Given the description of an element on the screen output the (x, y) to click on. 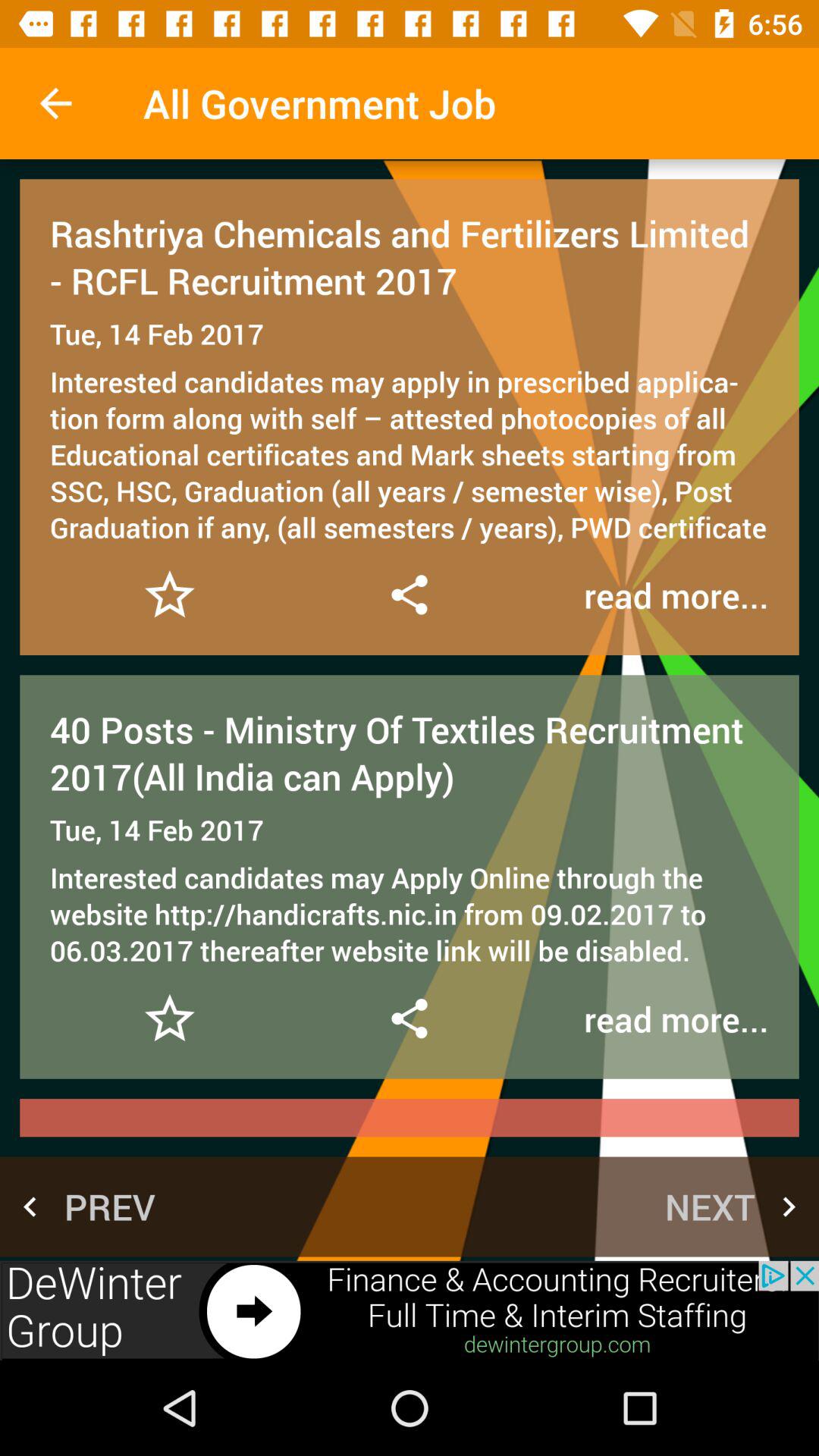
favorite (169, 595)
